Given the description of an element on the screen output the (x, y) to click on. 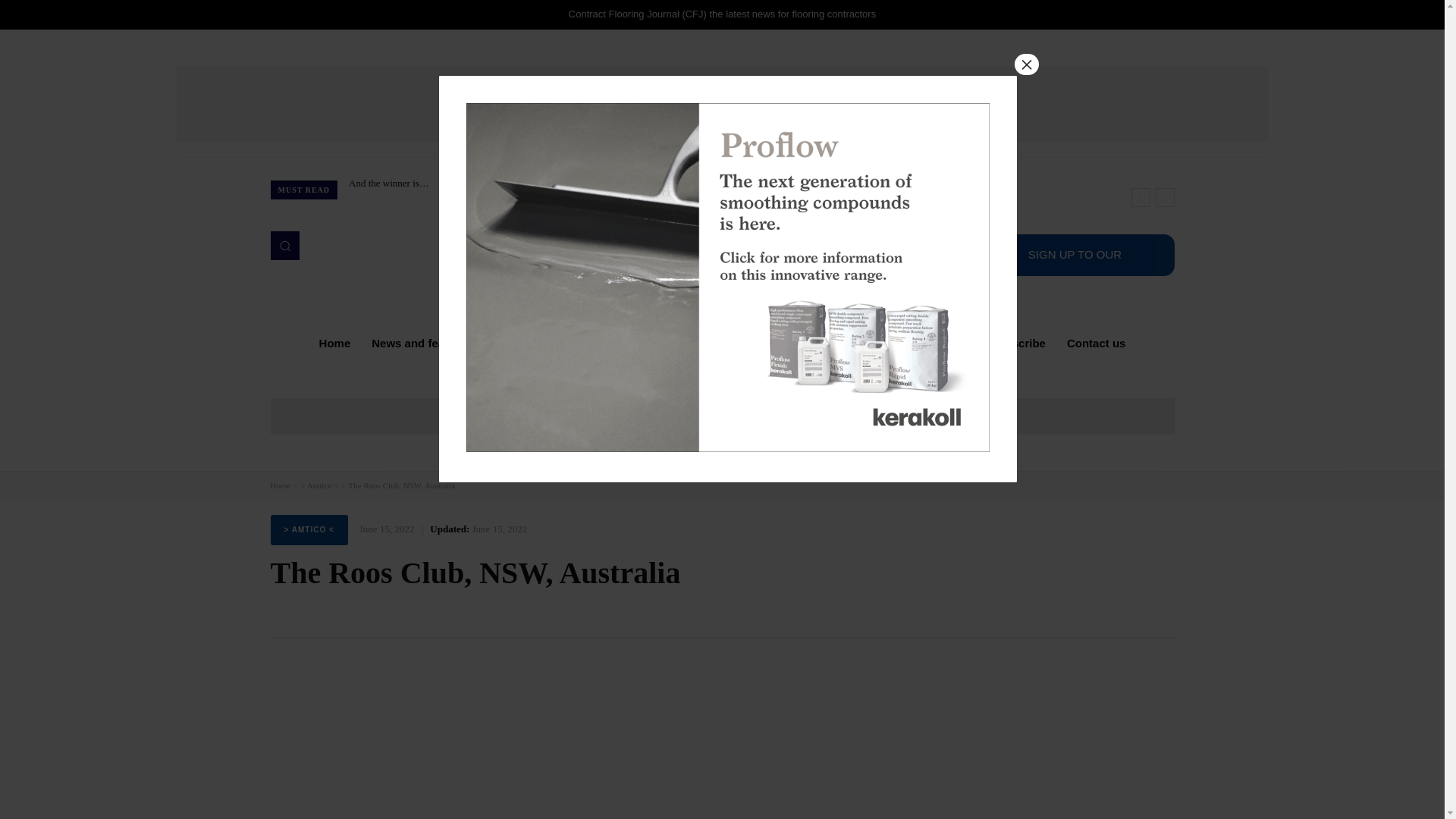
SIGN UP TO OUR NEWSLETTER (1074, 255)
